Given the description of an element on the screen output the (x, y) to click on. 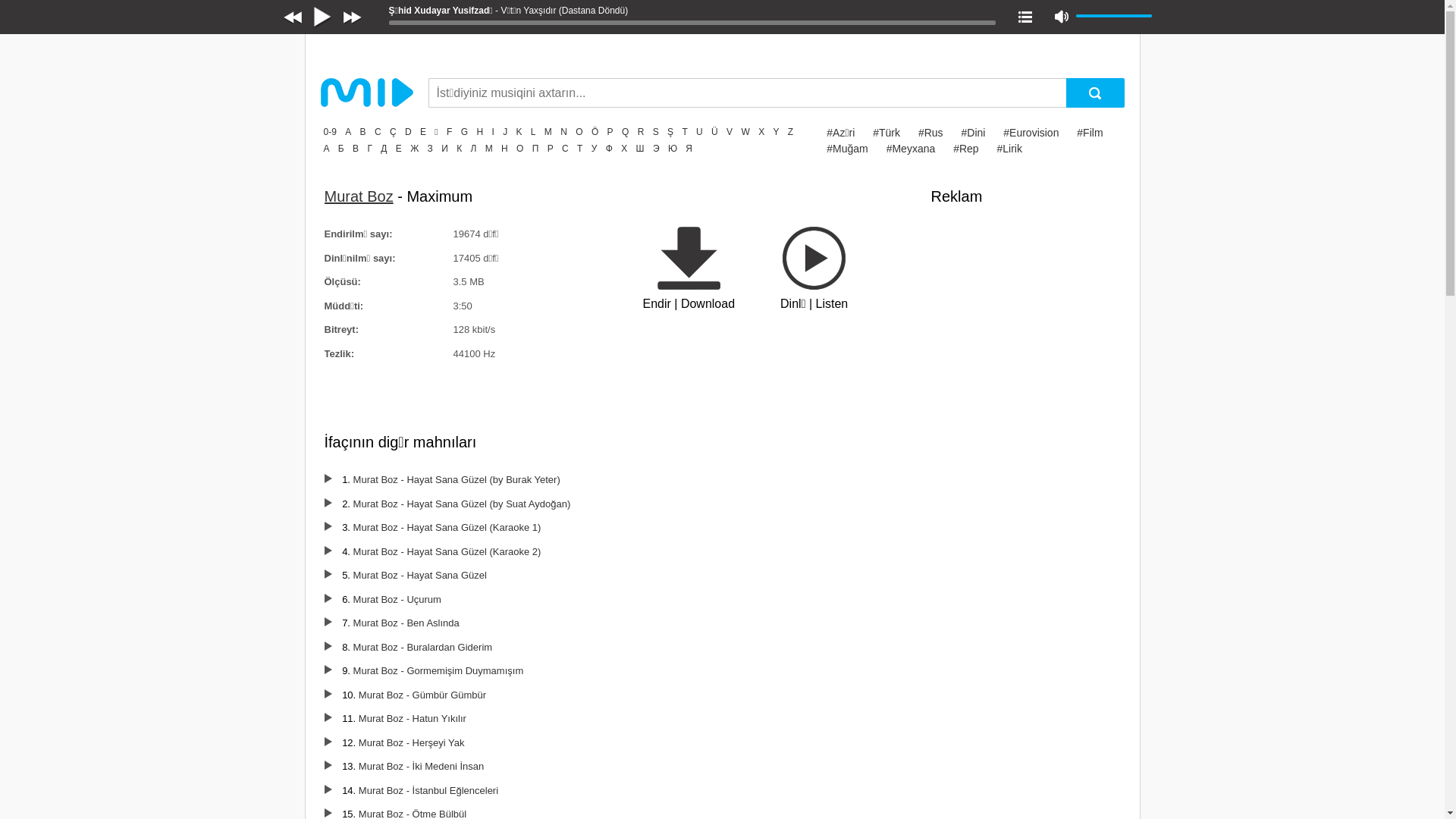
L Element type: text (533, 131)
#Eurovision Element type: text (1030, 132)
U Element type: text (699, 131)
N Element type: text (563, 131)
Z Element type: text (790, 131)
O Element type: text (578, 131)
B Element type: text (363, 131)
Q Element type: text (624, 131)
E Element type: text (423, 131)
X Element type: text (761, 131)
#Lirik Element type: text (1009, 148)
Y Element type: text (775, 131)
S Element type: text (655, 131)
I Element type: text (492, 131)
Endir | Download Element type: text (689, 269)
W Element type: text (744, 131)
G Element type: text (464, 131)
#Dini Element type: text (972, 132)
H Element type: text (479, 131)
K Element type: text (518, 131)
A Element type: text (348, 131)
Murat Boz Element type: text (358, 196)
M Element type: text (548, 131)
R Element type: text (640, 131)
V Element type: text (729, 131)
#Meyxana Element type: text (910, 148)
P Element type: text (610, 131)
#Rep Element type: text (965, 148)
Murat Boz - Buralardan Giderim Element type: text (422, 646)
#Rus Element type: text (930, 132)
T Element type: text (684, 131)
J Element type: text (504, 131)
C Element type: text (377, 131)
0-9 Element type: text (329, 131)
D Element type: text (407, 131)
F Element type: text (448, 131)
#Film Element type: text (1089, 132)
